Given the description of an element on the screen output the (x, y) to click on. 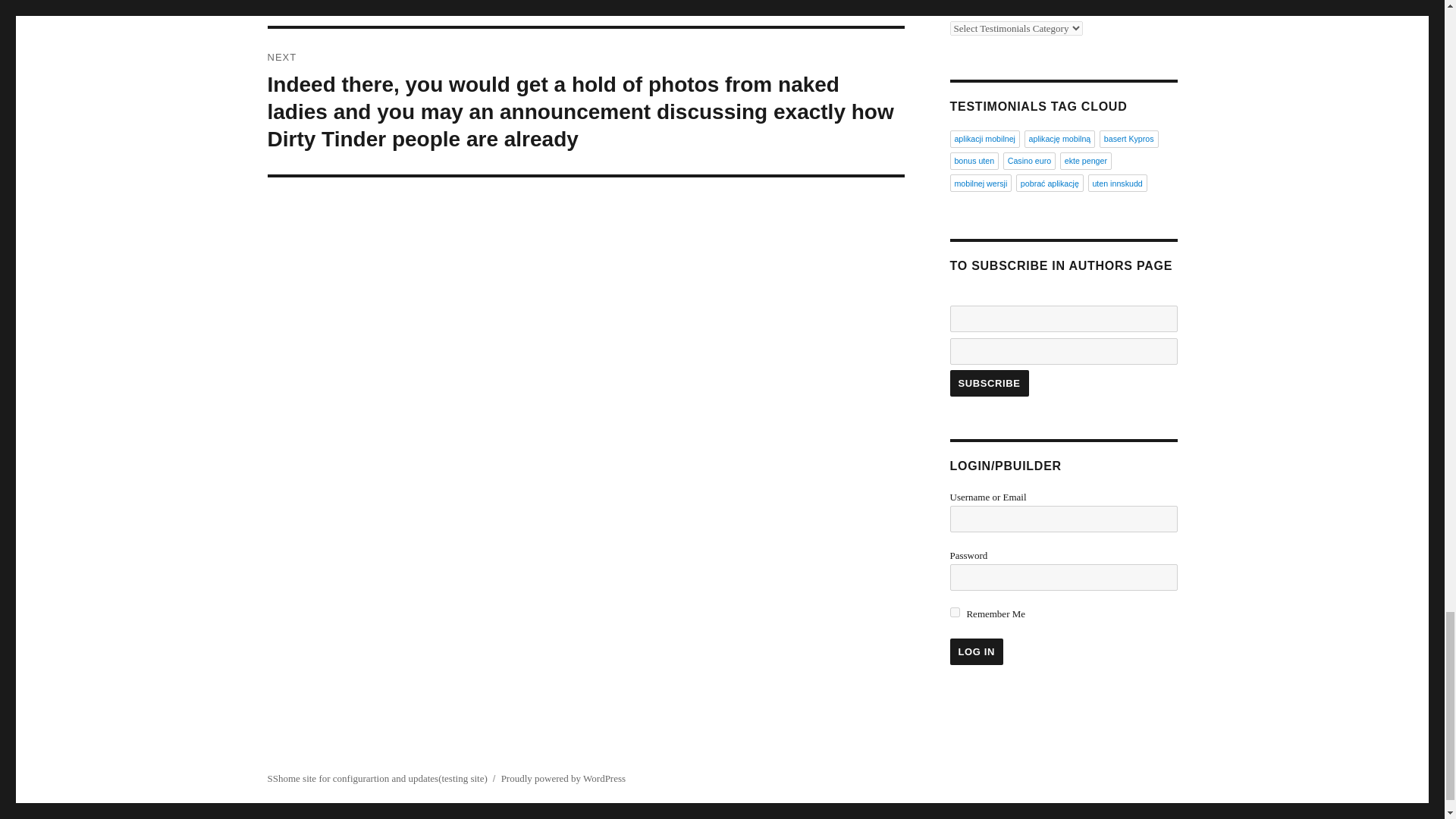
Subscribe (988, 383)
Log In (976, 651)
forever (954, 612)
